Given the description of an element on the screen output the (x, y) to click on. 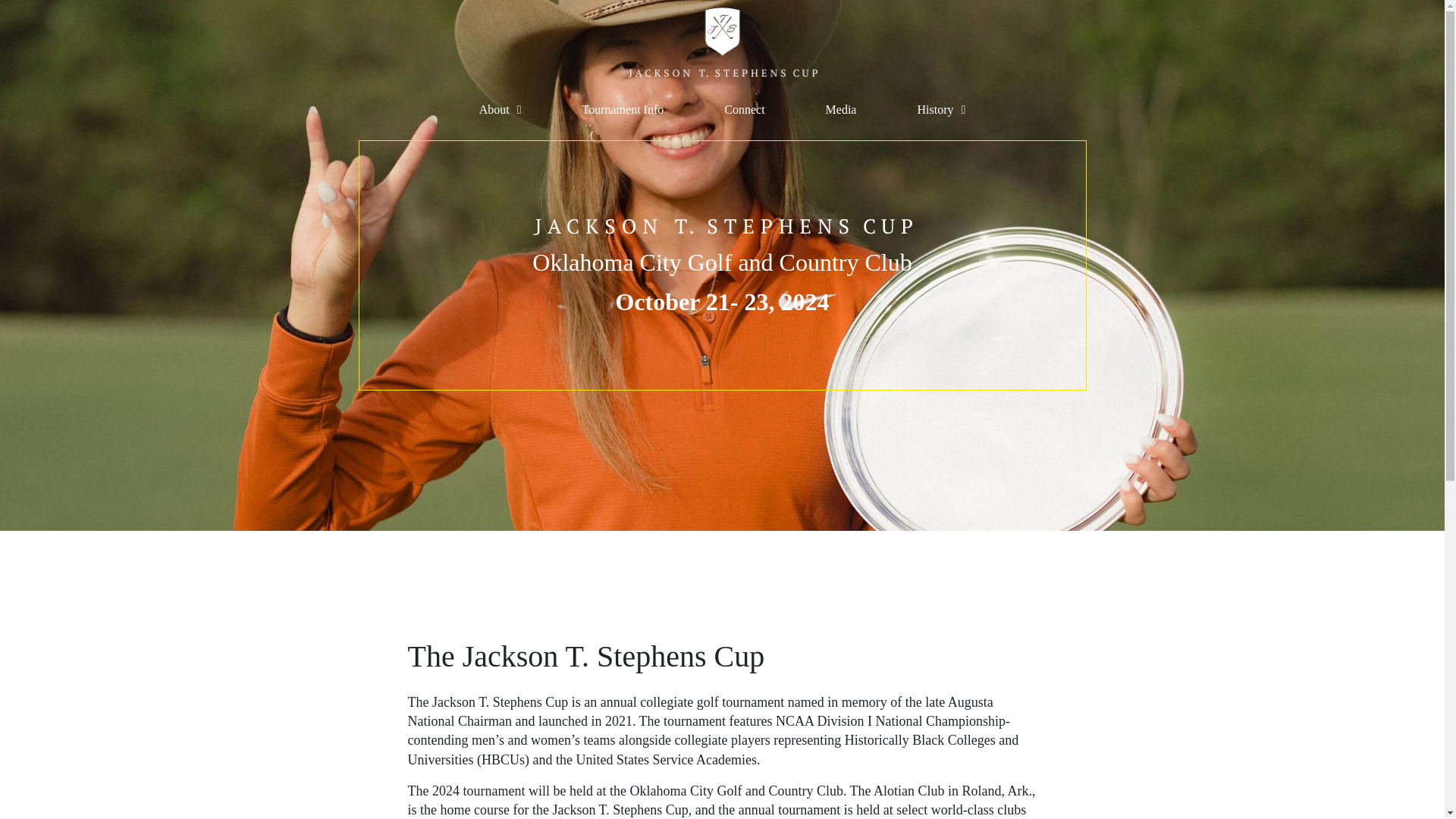
History (941, 109)
Tournament Info (622, 109)
Media (841, 109)
About (500, 109)
Connect (743, 109)
